Given the description of an element on the screen output the (x, y) to click on. 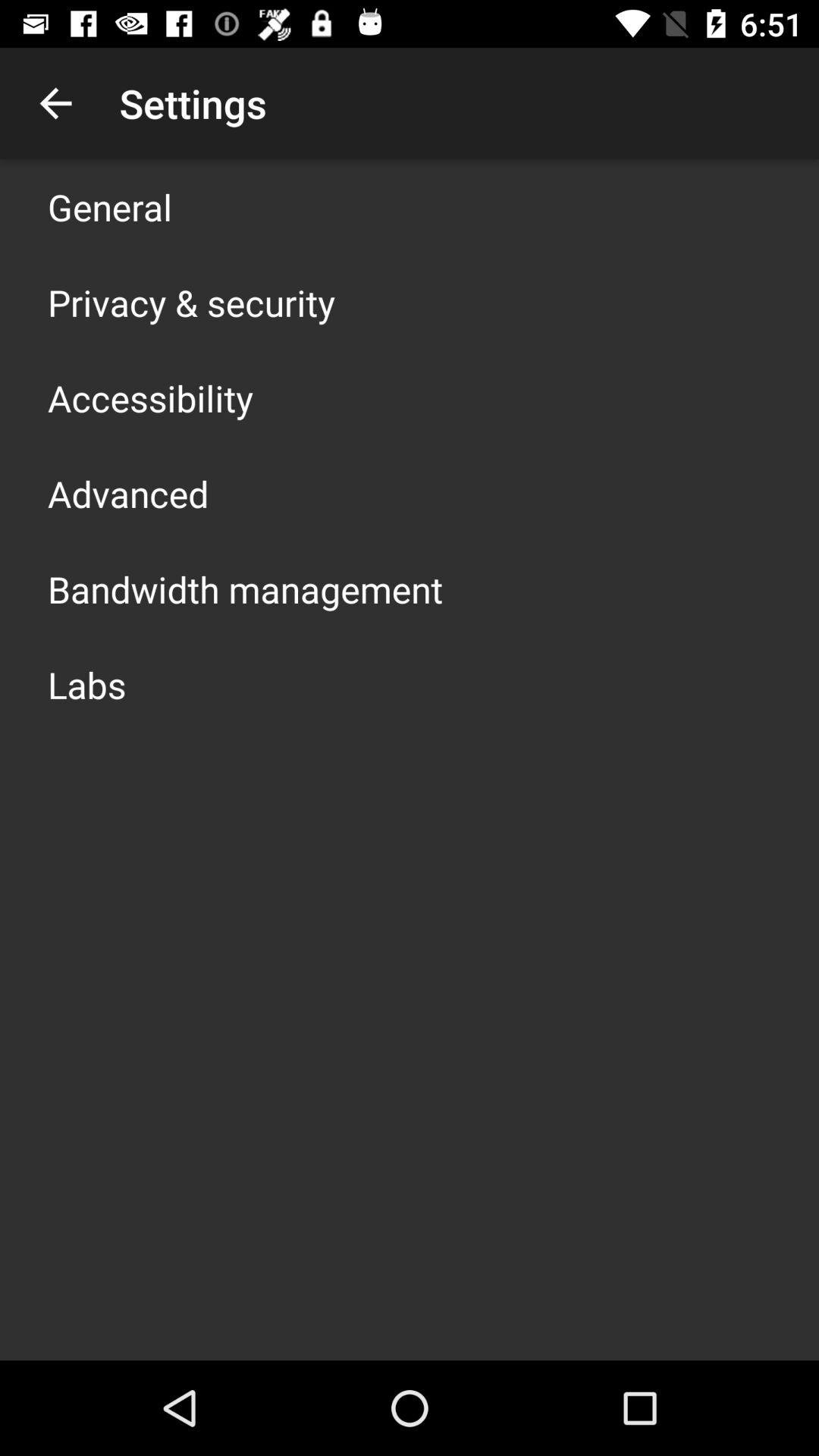
choose the icon below the advanced icon (245, 588)
